Given the description of an element on the screen output the (x, y) to click on. 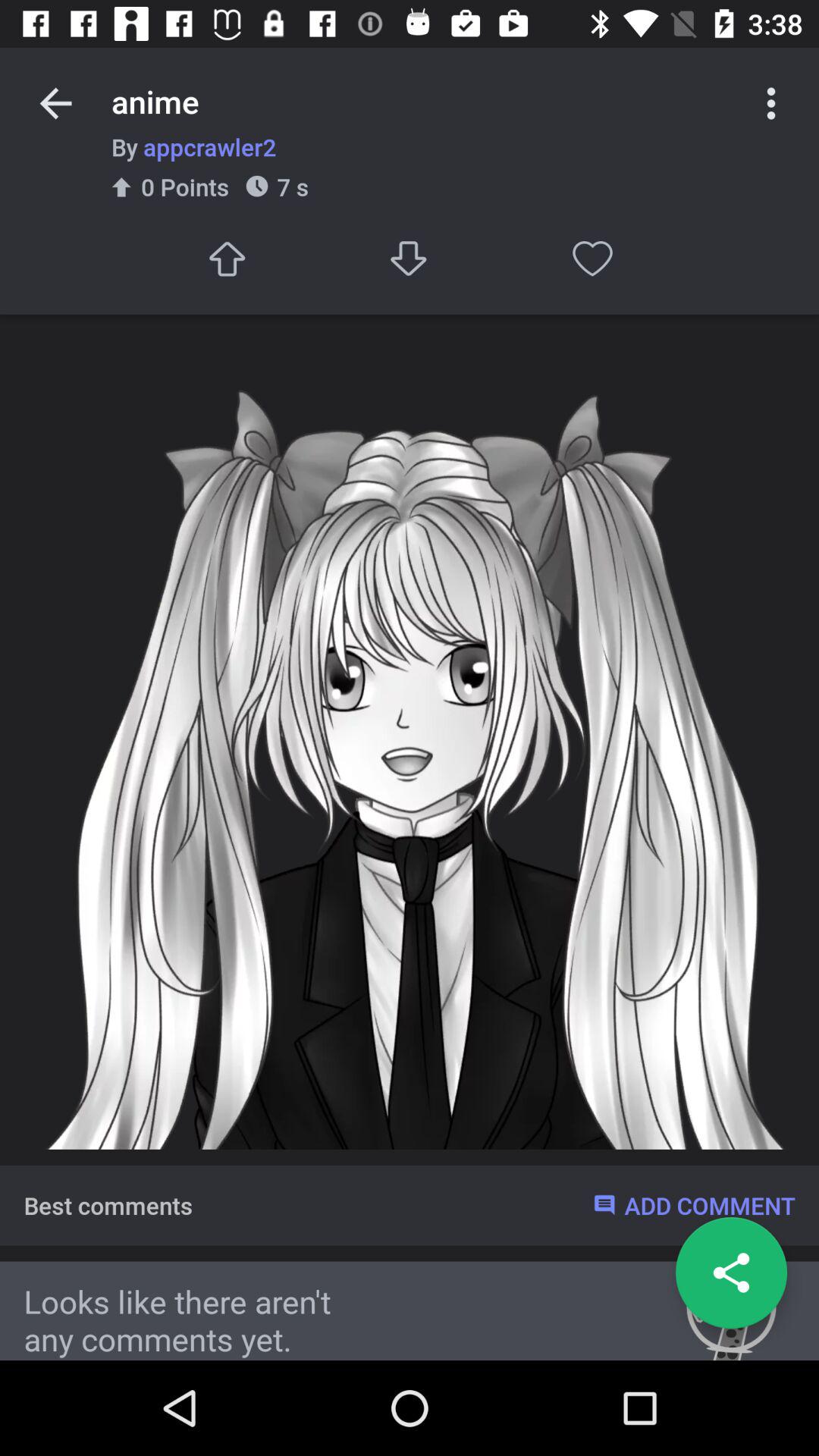
go to option (409, 258)
